Given the description of an element on the screen output the (x, y) to click on. 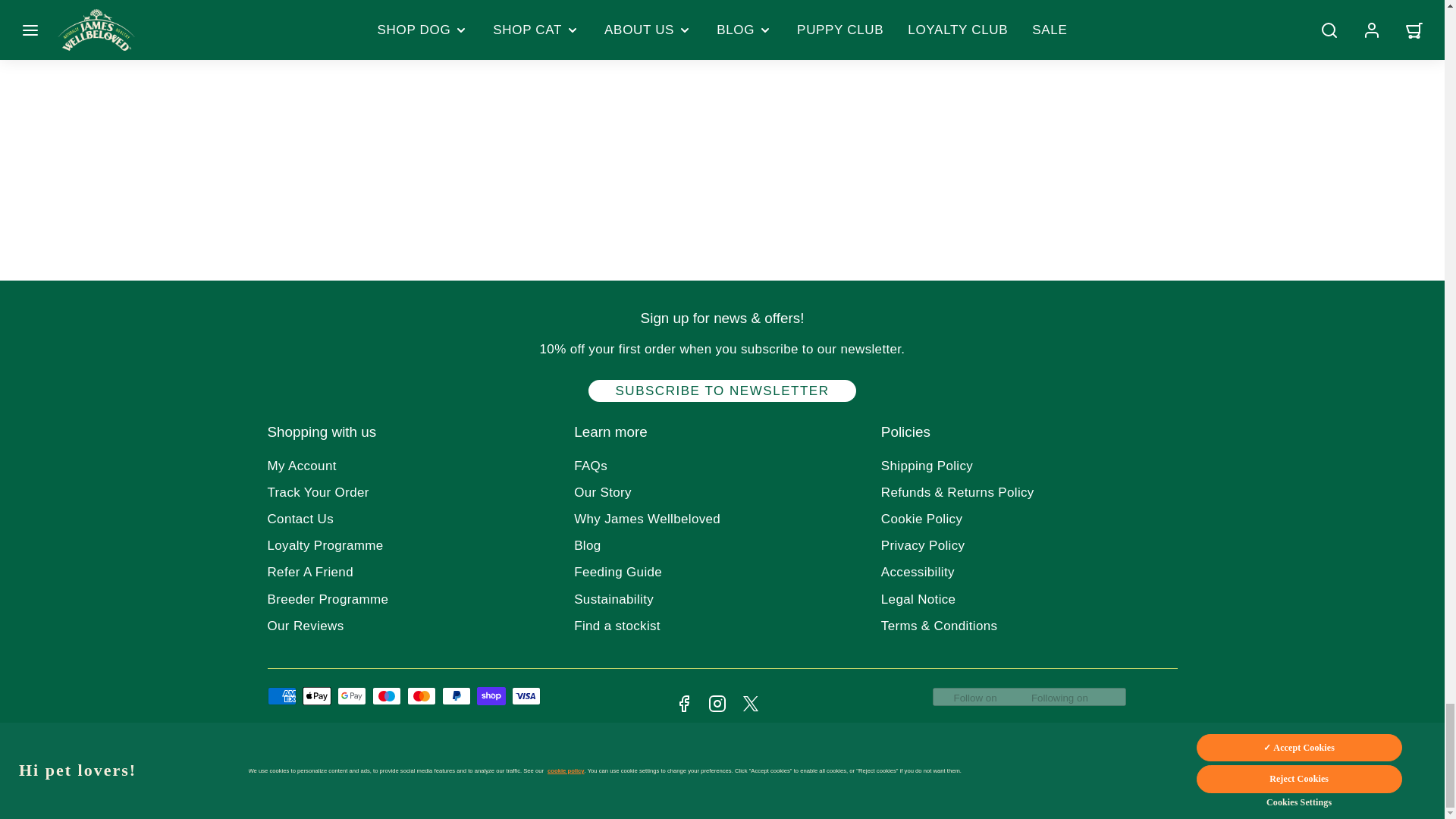
Visa (525, 696)
Apple Pay (315, 696)
Shop Pay (490, 696)
Google Pay (350, 696)
American Express (280, 696)
PayPal (455, 696)
Maestro (385, 696)
Mastercard (420, 696)
